Given the description of an element on the screen output the (x, y) to click on. 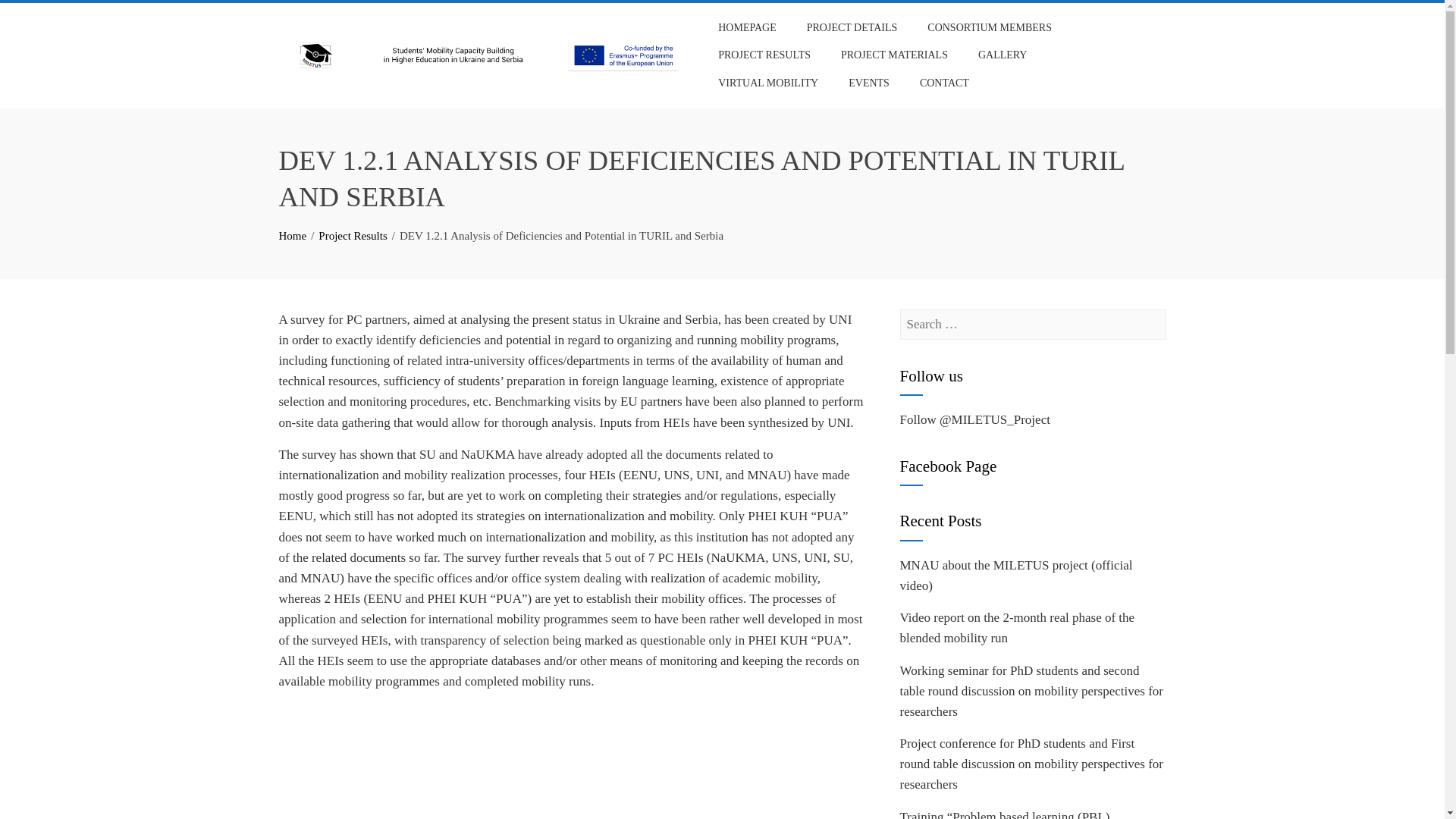
PROJECT DETAILS (851, 27)
GALLERY (1002, 54)
CONSORTIUM MEMBERS (988, 27)
HOMEPAGE (746, 27)
PROJECT RESULTS (764, 54)
PROJECT MATERIALS (894, 54)
Home (293, 235)
VIRTUAL MOBILITY (767, 83)
Search (32, 15)
Project Results (352, 235)
